Given the description of an element on the screen output the (x, y) to click on. 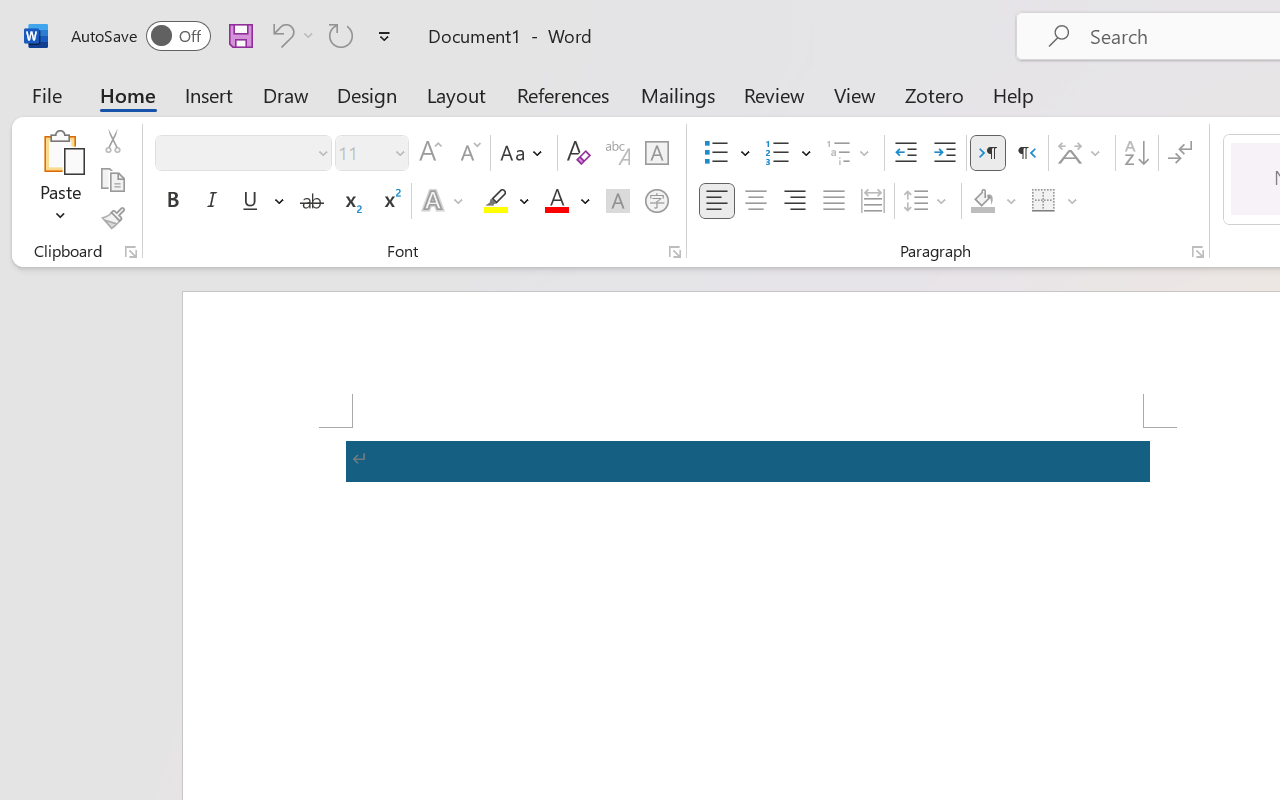
Shading No Color (982, 201)
Repeat Accessibility Checker (341, 35)
Undo Apply Quick Style Set (290, 35)
